Given the description of an element on the screen output the (x, y) to click on. 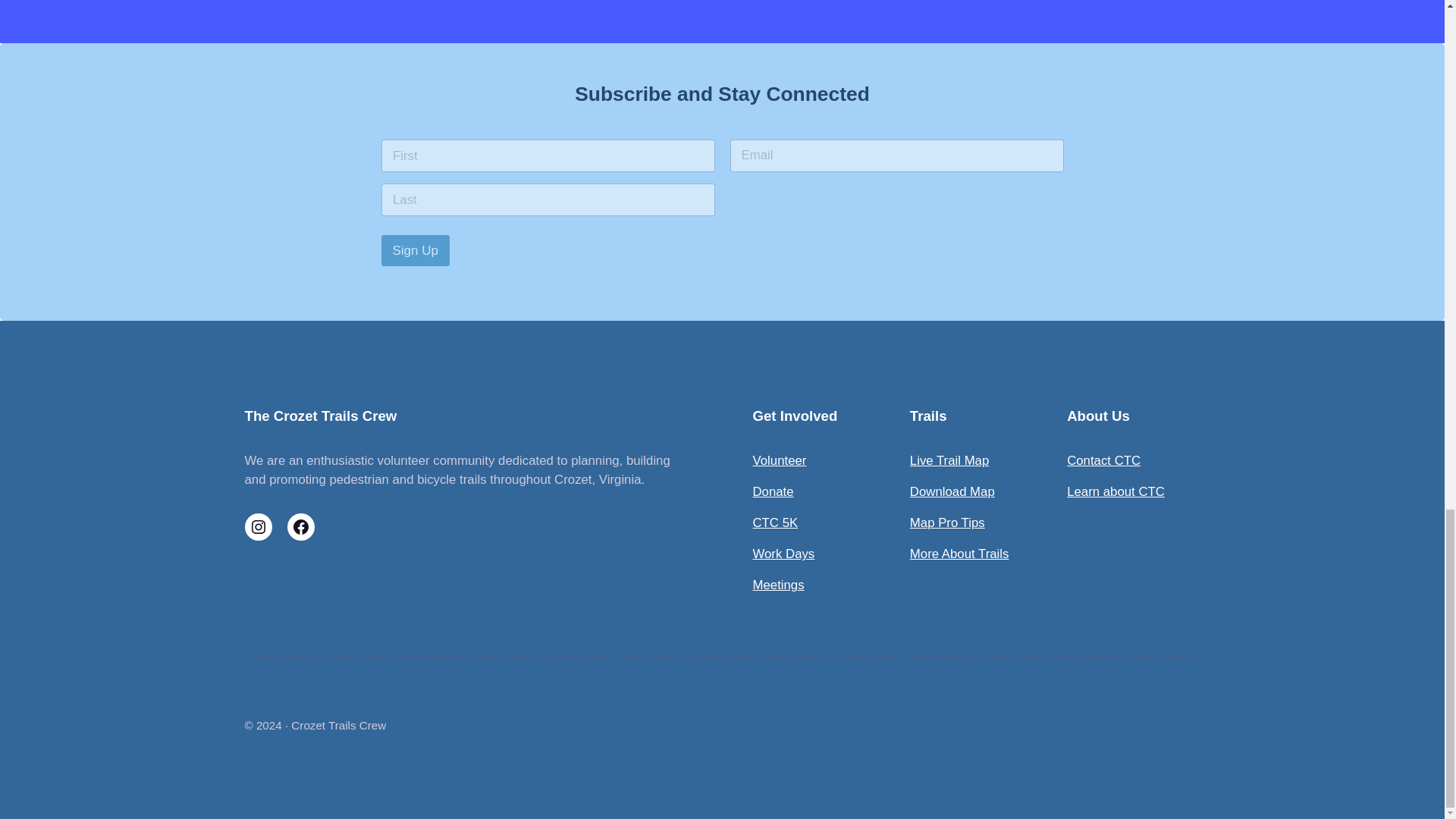
Map Pro Tips (947, 522)
Instagram (257, 526)
Live Trail Map (949, 460)
Facebook (300, 526)
Sign Up (414, 250)
More About Trails (959, 554)
Work Days (782, 554)
CTC 5K (774, 522)
Donate (772, 491)
Meetings (777, 585)
